Given the description of an element on the screen output the (x, y) to click on. 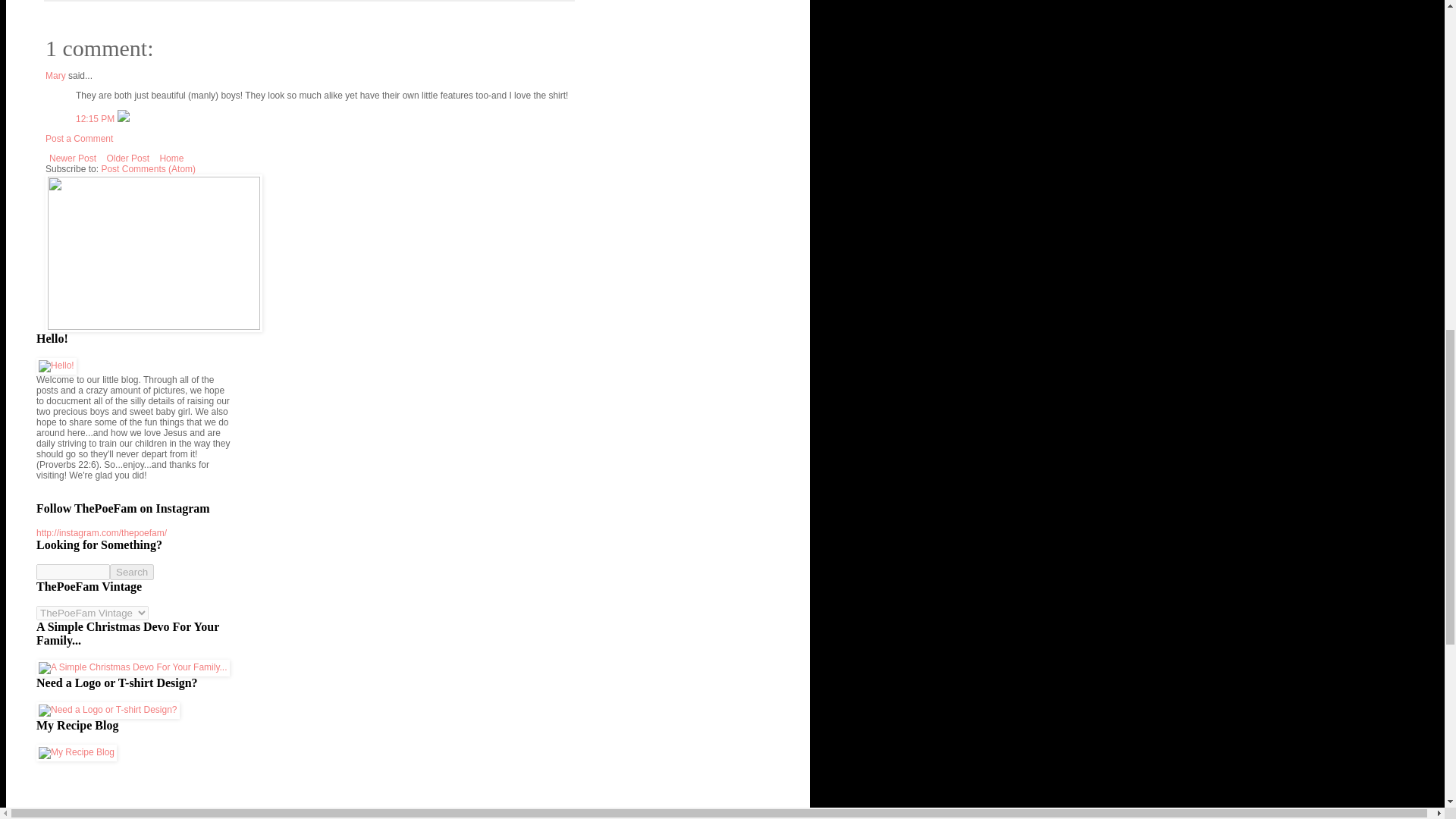
Search (132, 571)
Search (132, 571)
Home (171, 158)
Search (132, 571)
Older Post (126, 158)
Newer Post (72, 158)
12:15 PM (96, 118)
Post a Comment (79, 138)
comment permalink (96, 118)
Mary (55, 75)
